Given the description of an element on the screen output the (x, y) to click on. 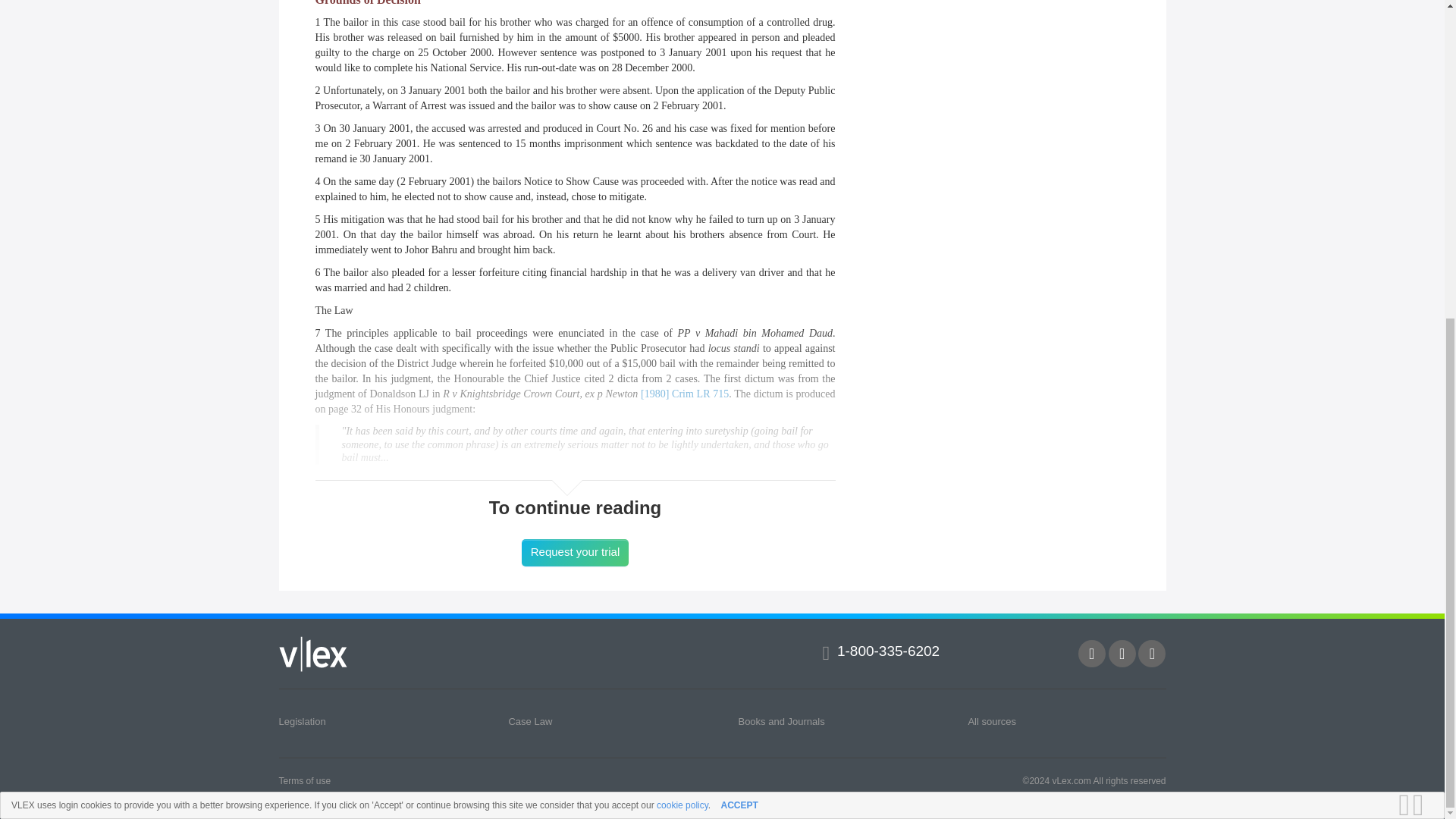
vLex (313, 653)
Terms of use (305, 780)
CLOSE (1422, 290)
Legislation (302, 720)
ACCEPT (739, 290)
Case Law (529, 720)
cookie policy (681, 290)
Case Law (529, 720)
Terms of use (305, 780)
Books and Journals (781, 720)
All sources (992, 720)
Books and Journals (781, 720)
All sources (992, 720)
Legislation (302, 720)
